Given the description of an element on the screen output the (x, y) to click on. 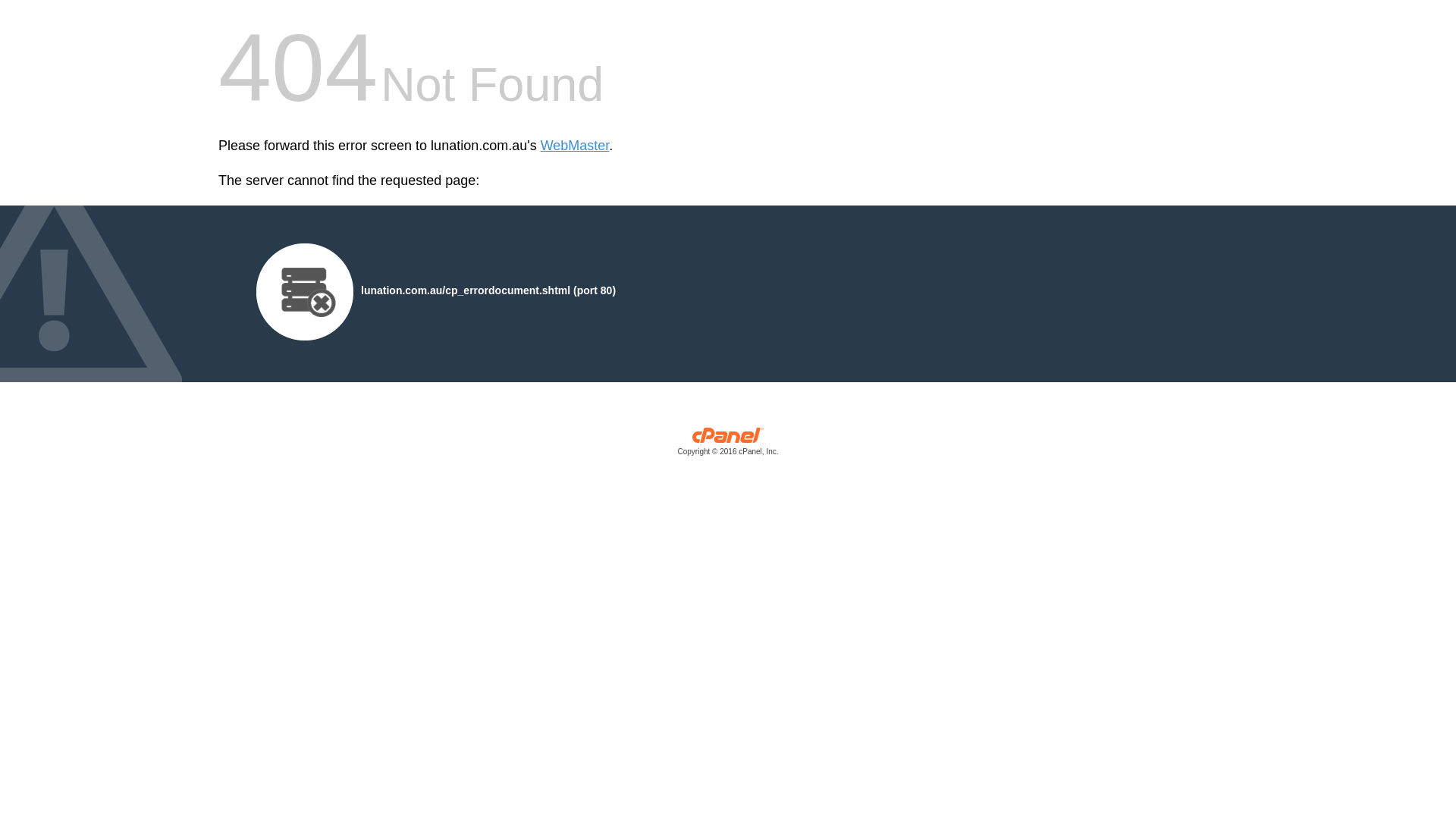
WebMaster Element type: text (574, 145)
